Given the description of an element on the screen output the (x, y) to click on. 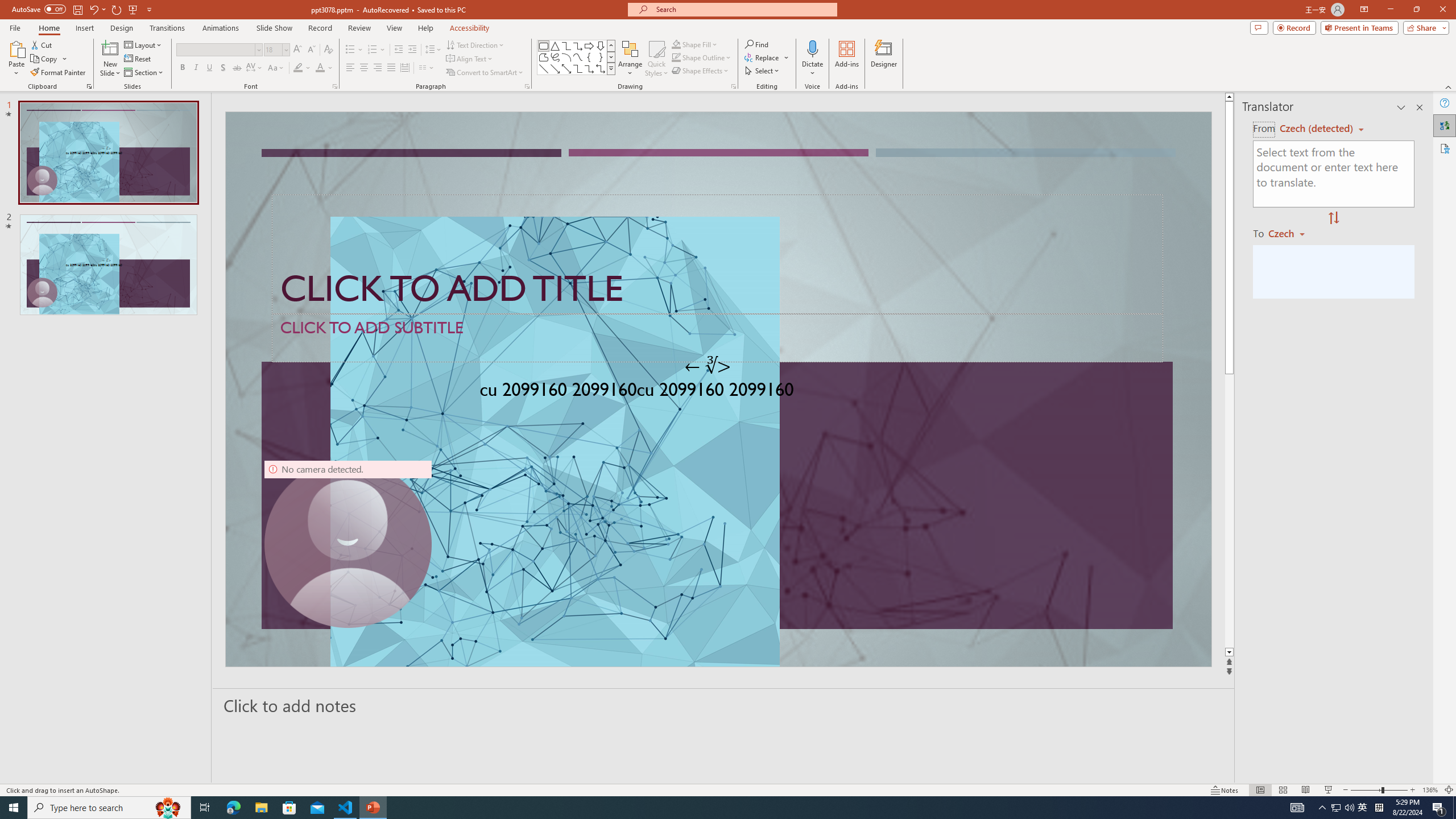
Line Arrow: Double (566, 68)
An abstract genetic concept (718, 389)
